Given the description of an element on the screen output the (x, y) to click on. 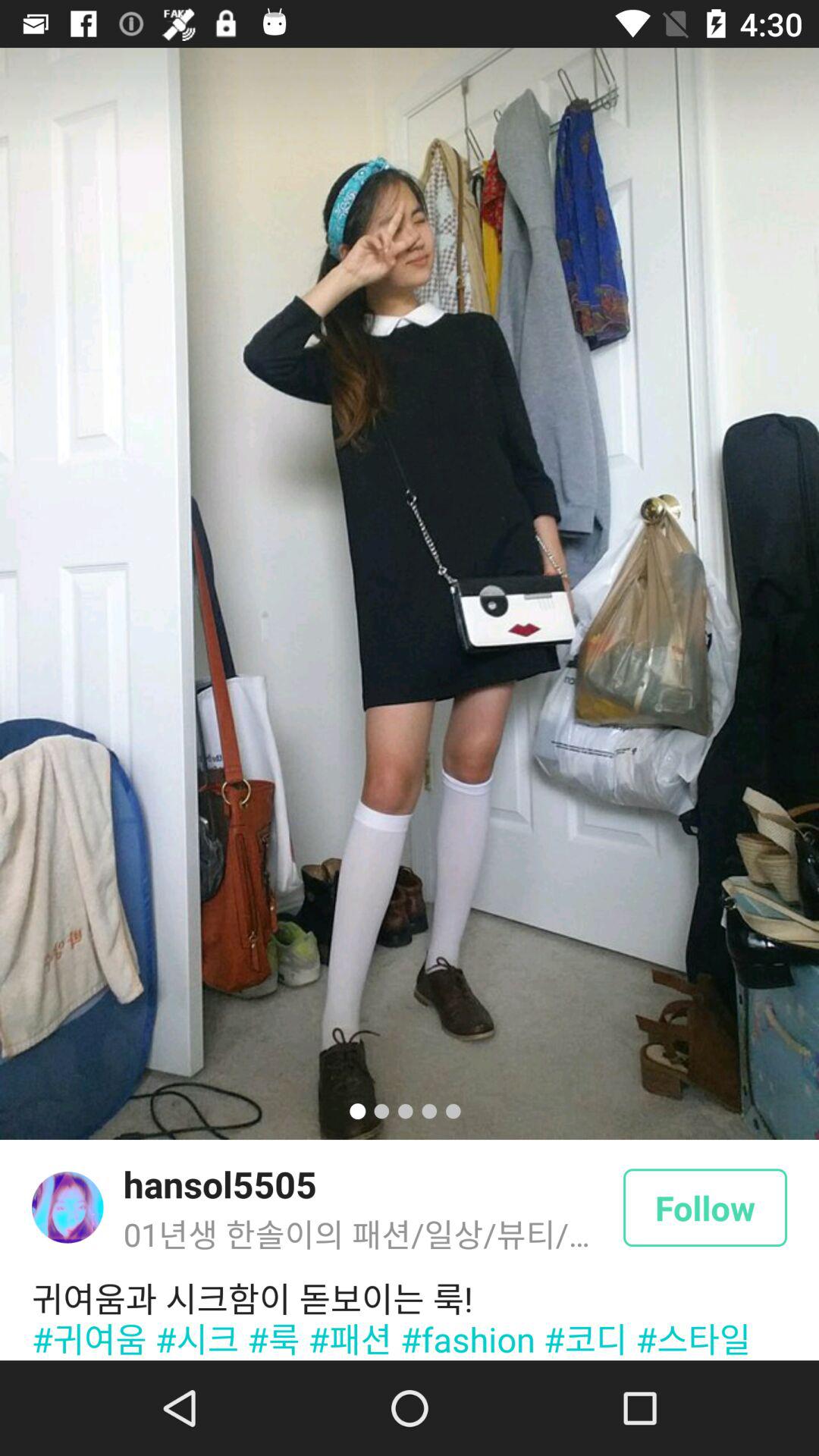
press item next to the hansol5505 icon (67, 1207)
